Given the description of an element on the screen output the (x, y) to click on. 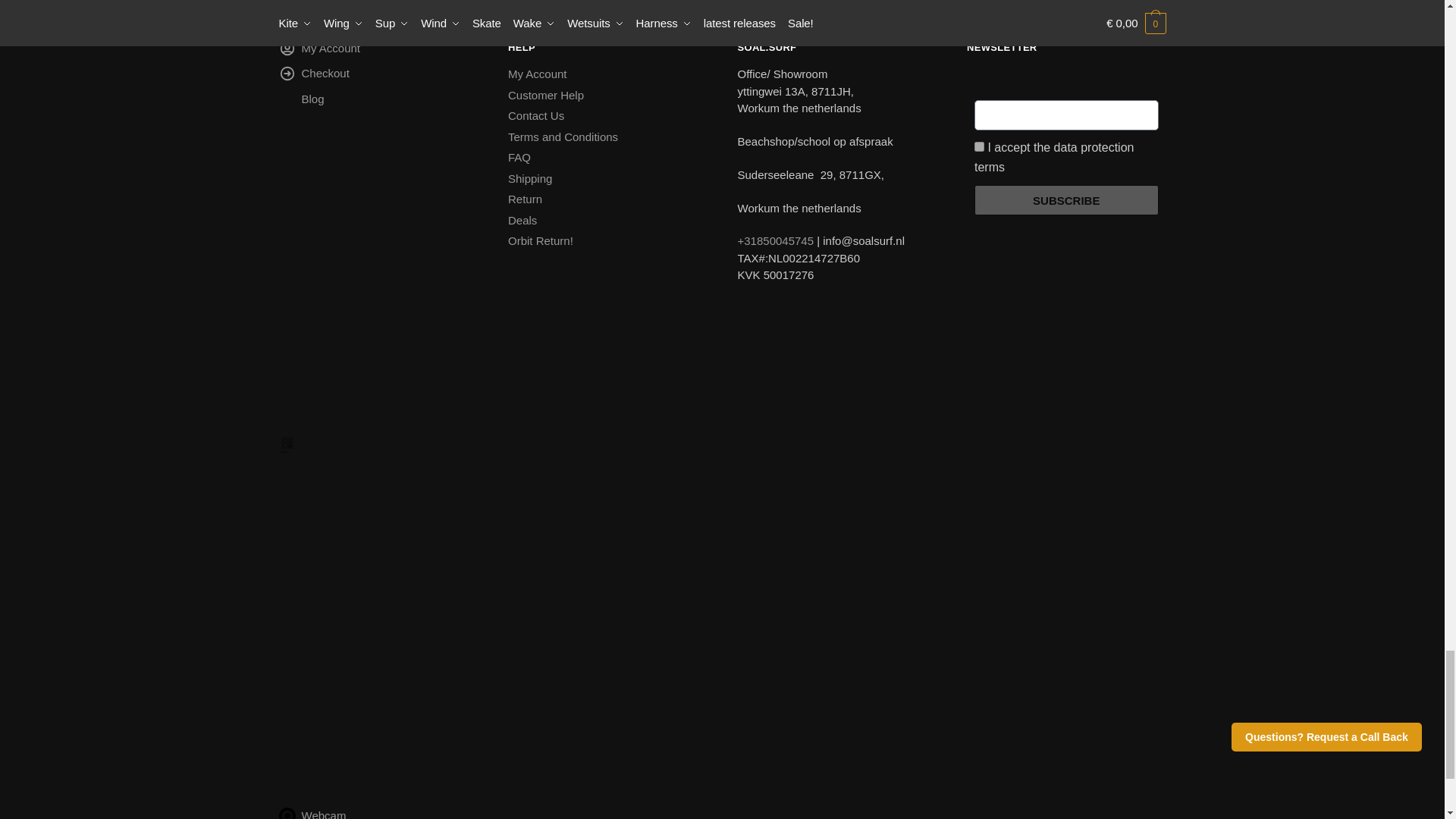
on (979, 146)
